Given the description of an element on the screen output the (x, y) to click on. 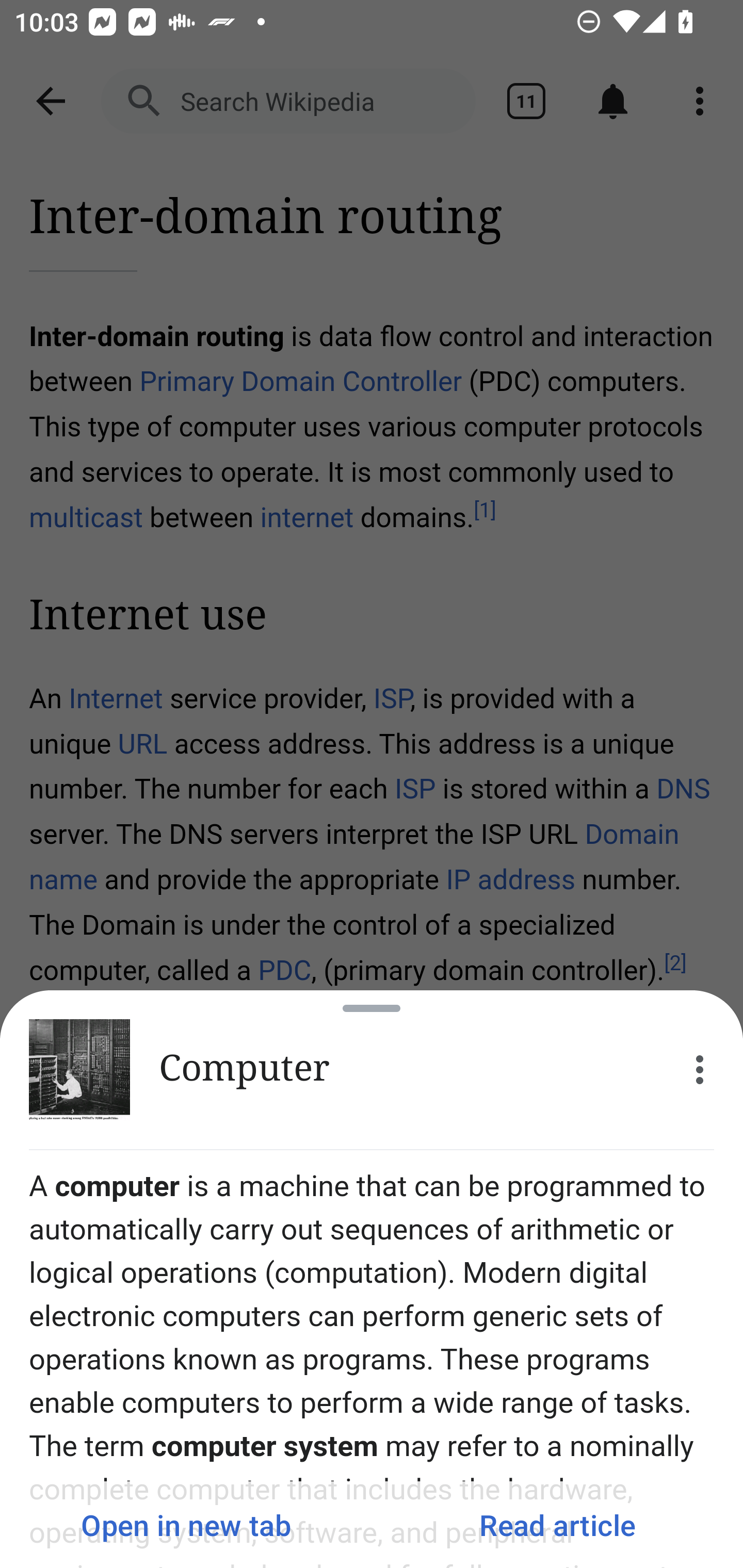
Computer More options (371, 1069)
More options (699, 1070)
Open in new tab (185, 1524)
Read article (557, 1524)
